Given the description of an element on the screen output the (x, y) to click on. 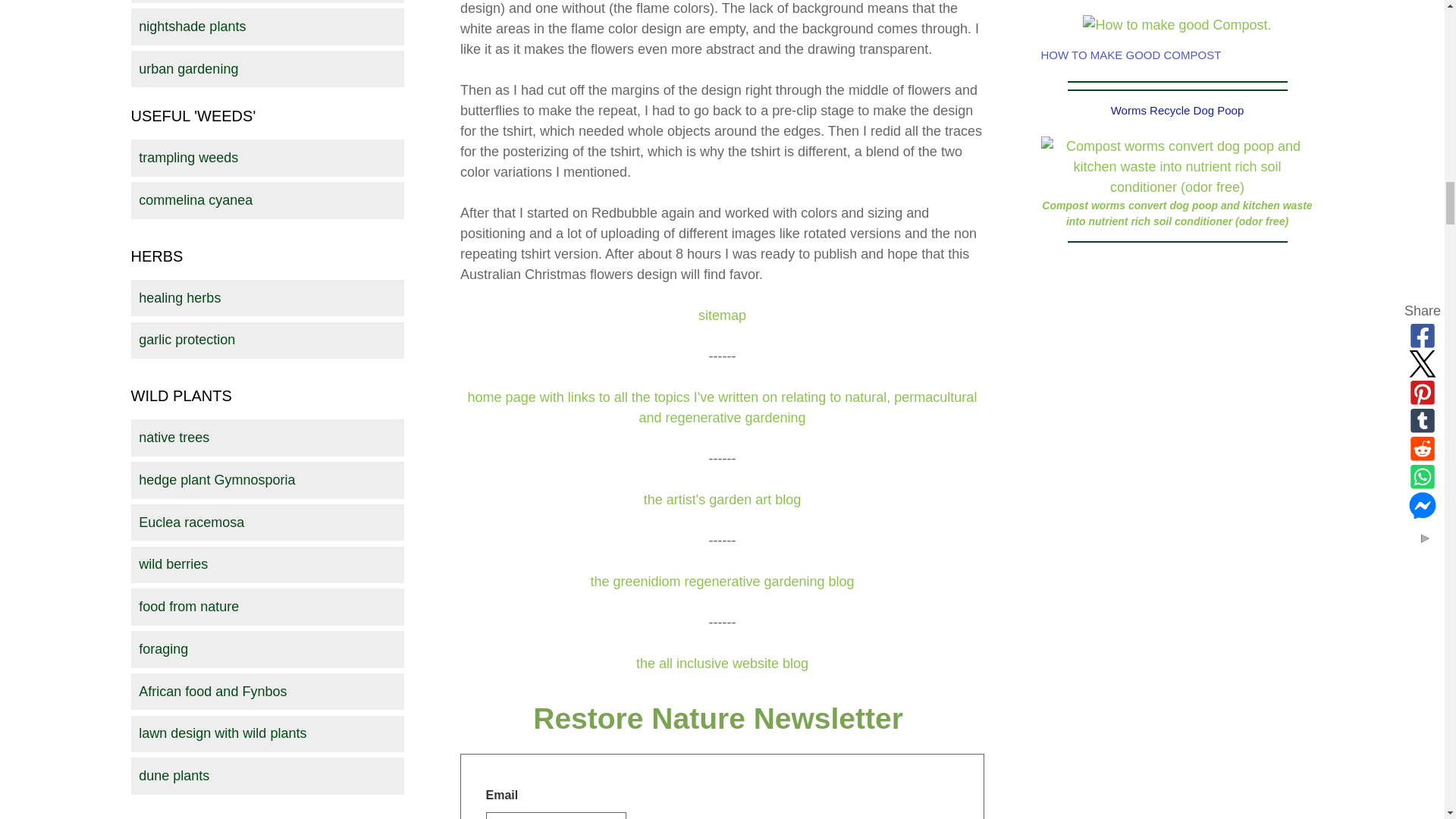
How to make good Compost. (1177, 25)
Go to organic garden fertilizer (1177, 24)
